Given the description of an element on the screen output the (x, y) to click on. 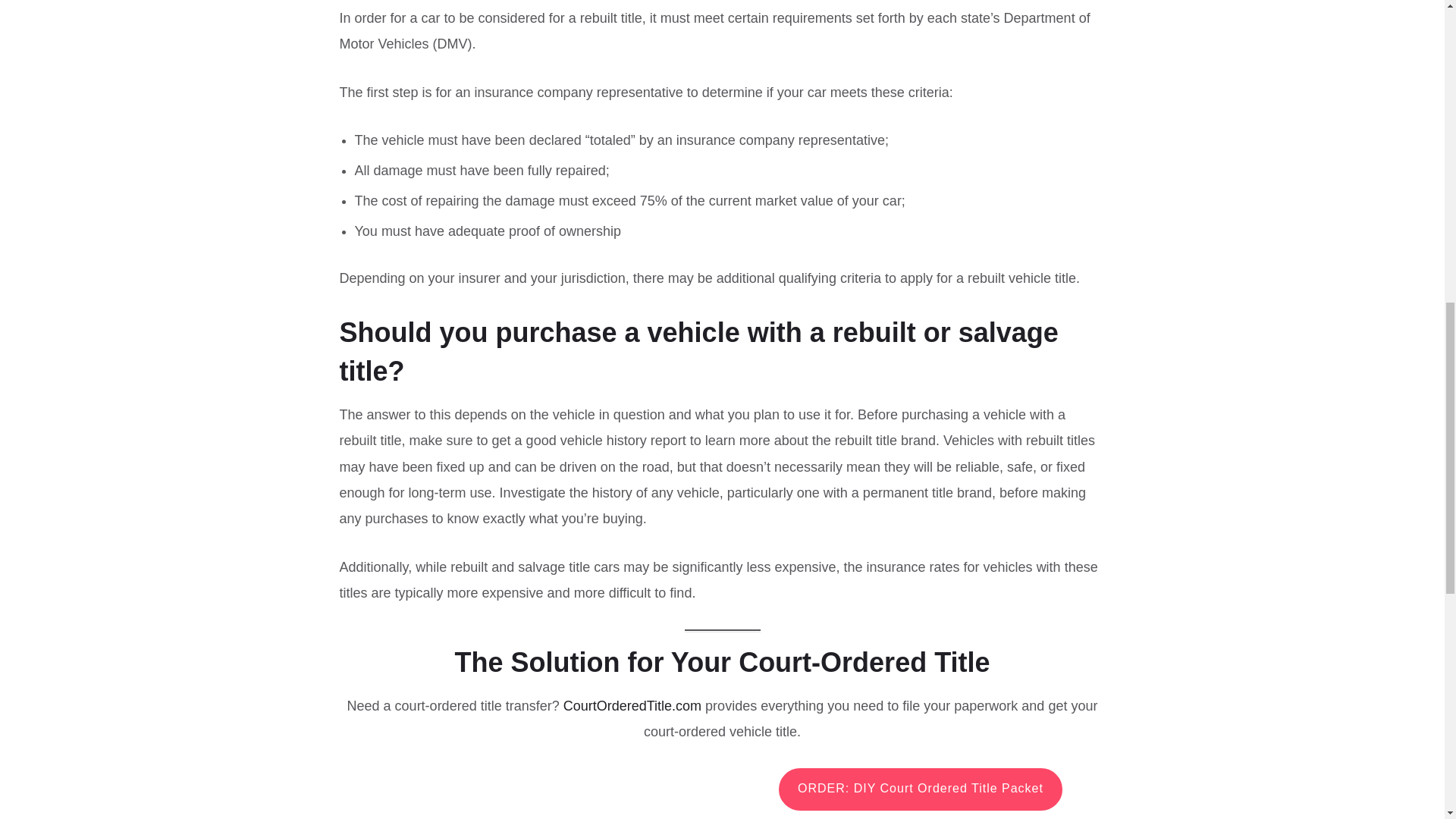
CourtOrderedTitle.com (632, 705)
ORDER: DIY Court Ordered Title Packet (920, 789)
